Given the description of an element on the screen output the (x, y) to click on. 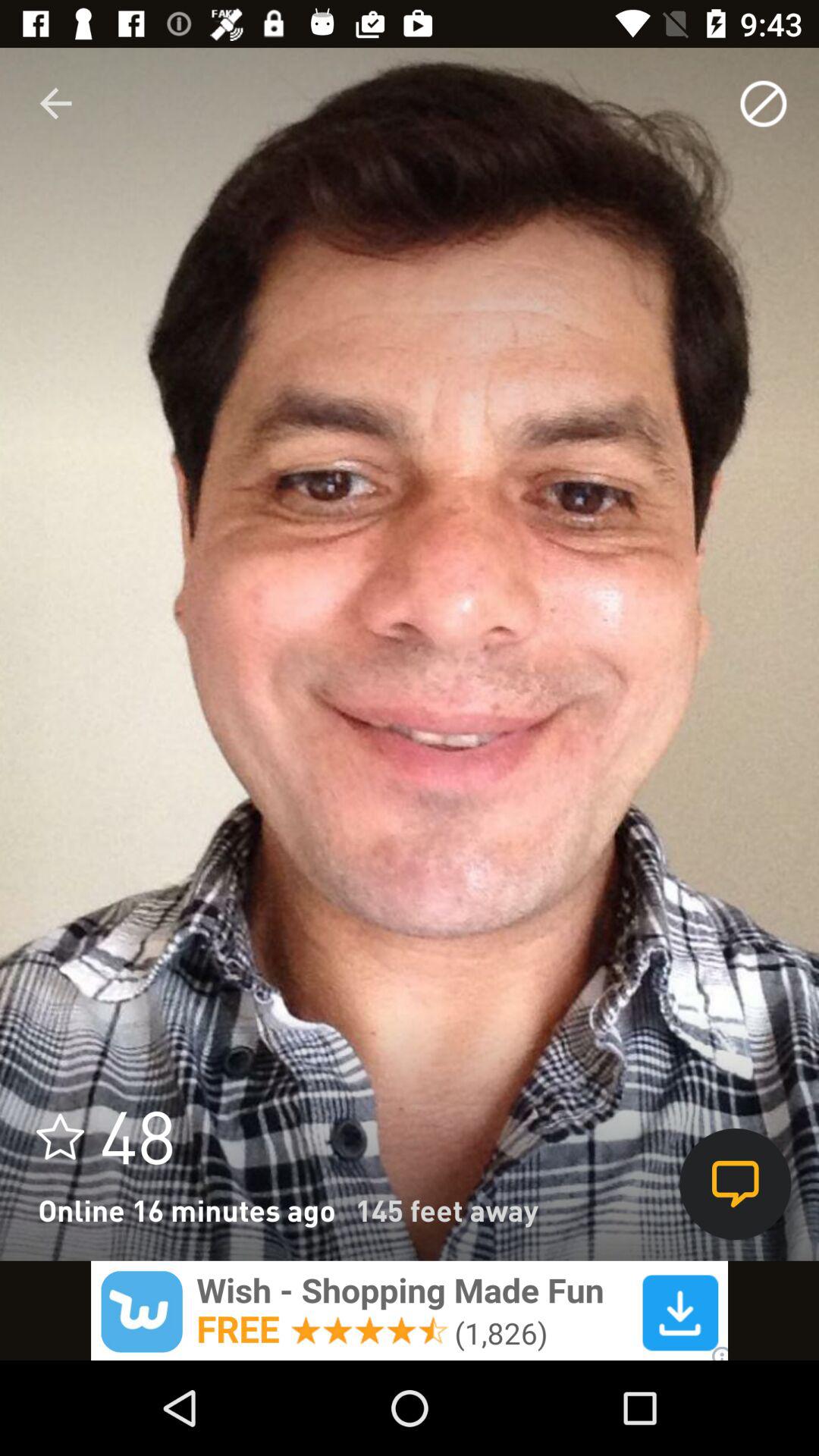
click advertisement (409, 1310)
